Given the description of an element on the screen output the (x, y) to click on. 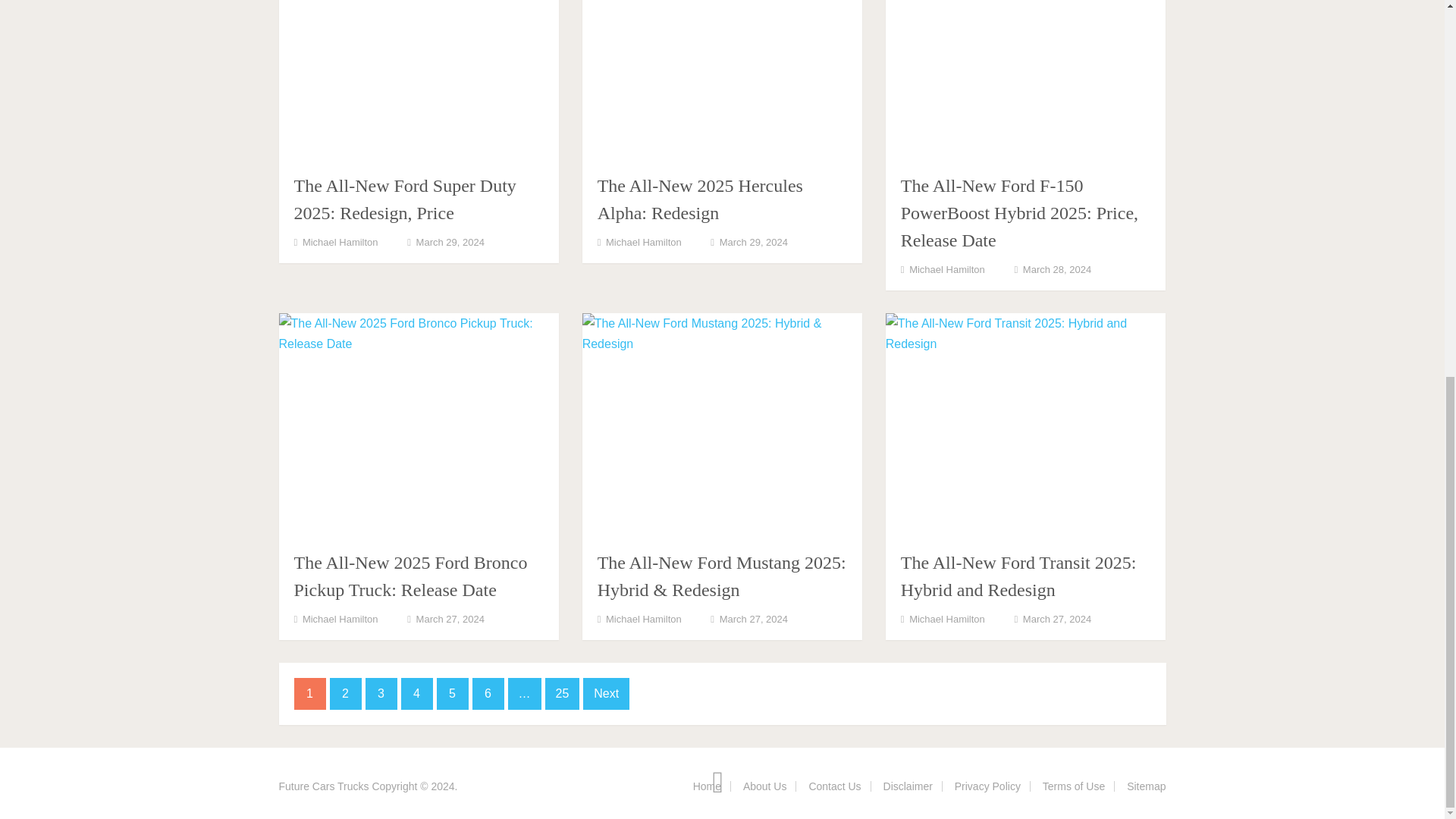
The All-New Ford Super Duty 2025: Redesign, Price (419, 80)
Posts by Michael Hamilton (643, 242)
Posts by Michael Hamilton (340, 242)
The All-New 2025 Hercules Alpha: Redesign (699, 199)
The All-New 2025 Hercules Alpha: Redesign (722, 80)
The All-New Ford Super Duty 2025: Redesign, Price (405, 199)
